Given the description of an element on the screen output the (x, y) to click on. 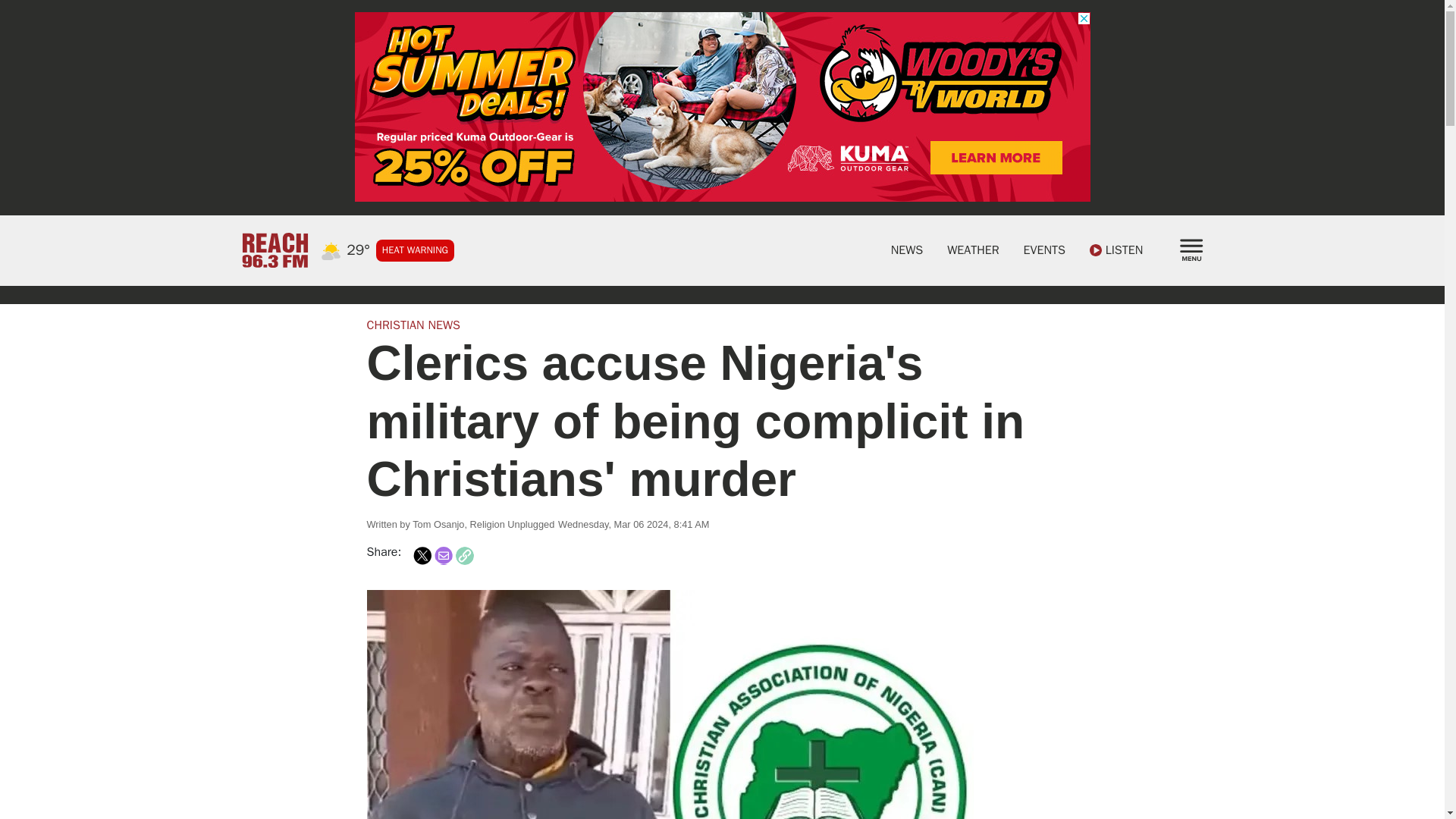
Copy Link (464, 556)
Share to Email (442, 556)
